Given the description of an element on the screen output the (x, y) to click on. 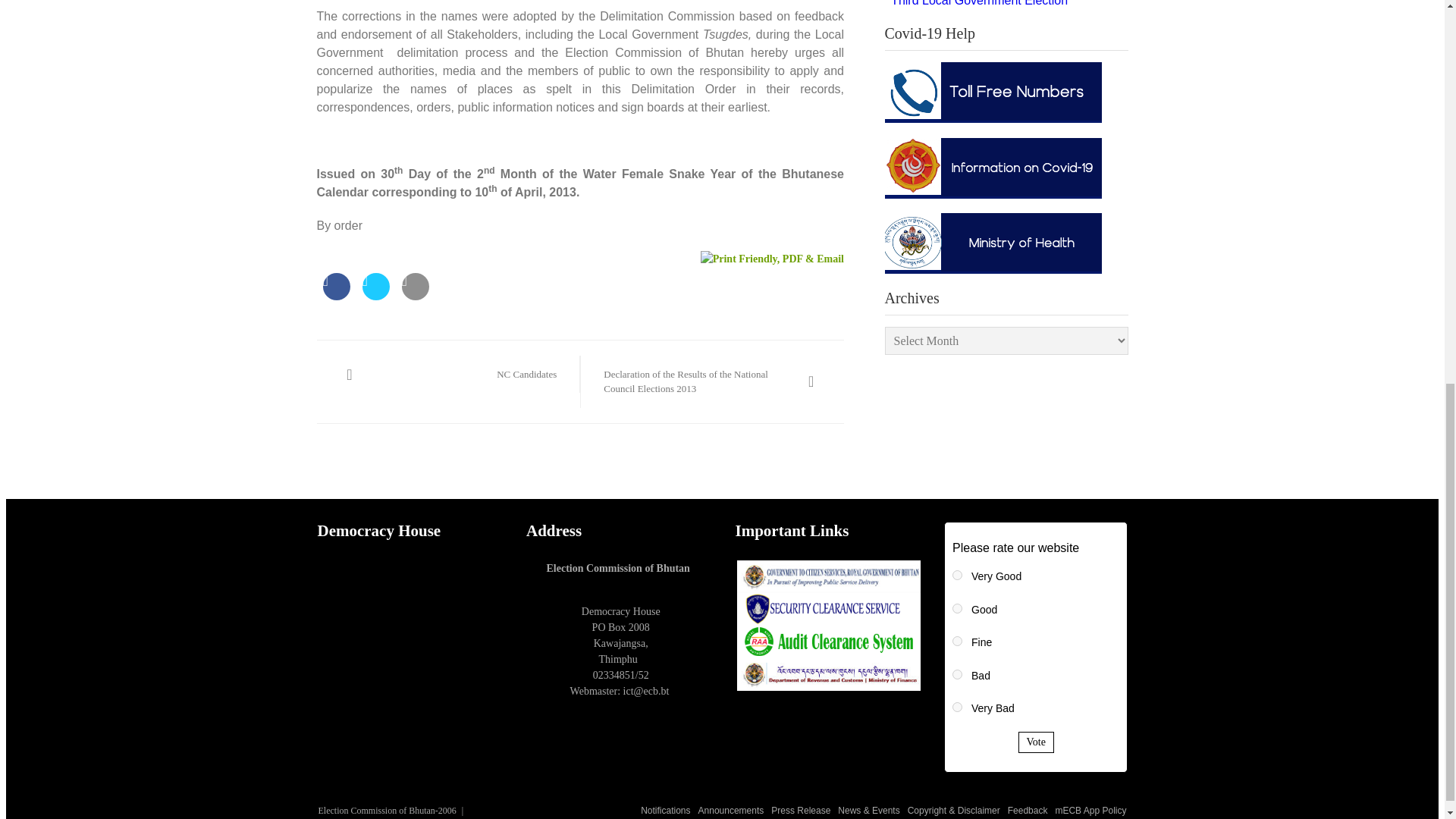
5 (957, 706)
4 (957, 674)
2 (957, 608)
1 (957, 574)
3 (957, 641)
